Given the description of an element on the screen output the (x, y) to click on. 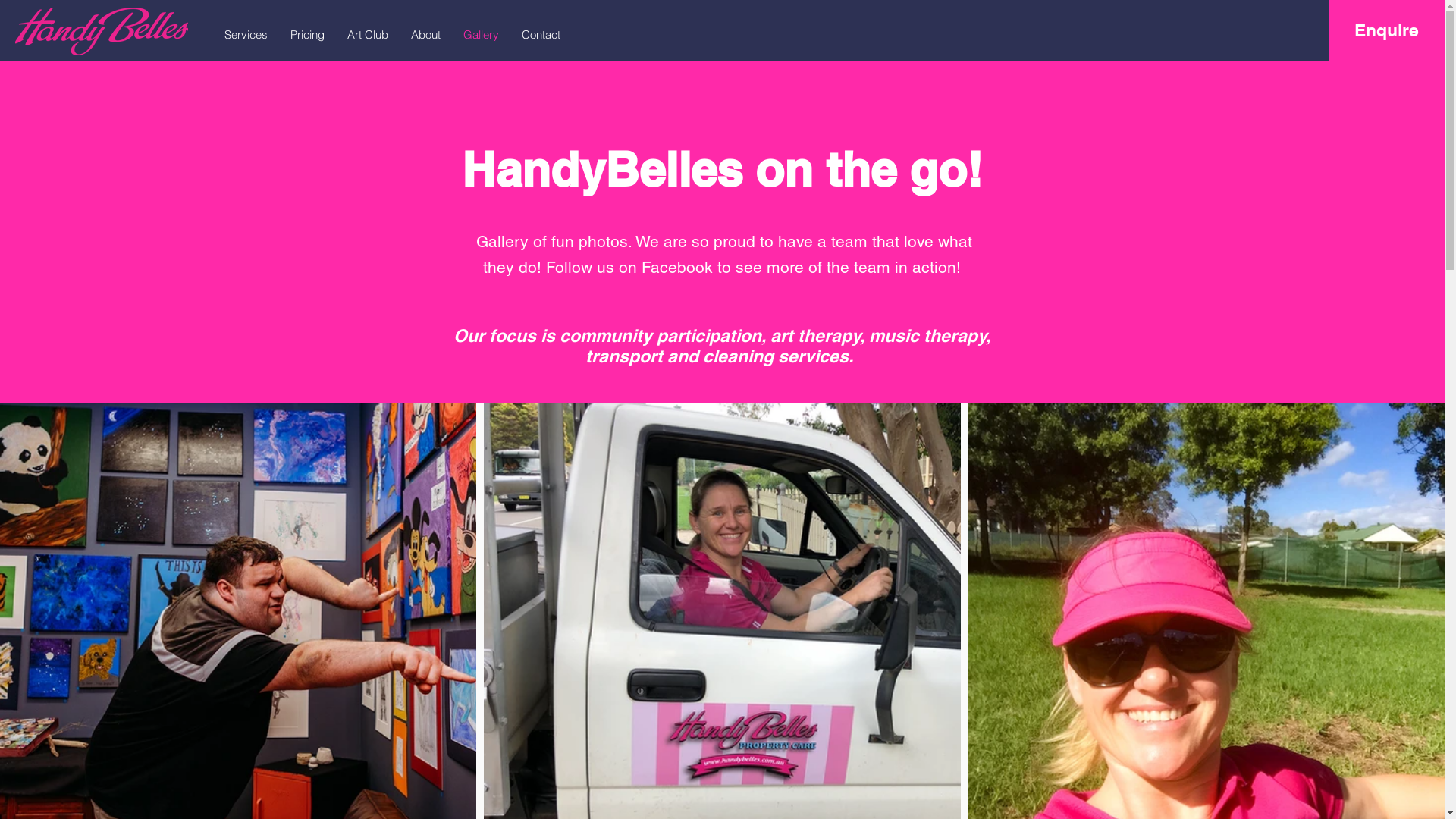
Gallery Element type: text (480, 34)
About Element type: text (425, 34)
Art Club Element type: text (367, 34)
Contact Element type: text (540, 34)
Enquire Element type: text (1386, 30)
